Given the description of an element on the screen output the (x, y) to click on. 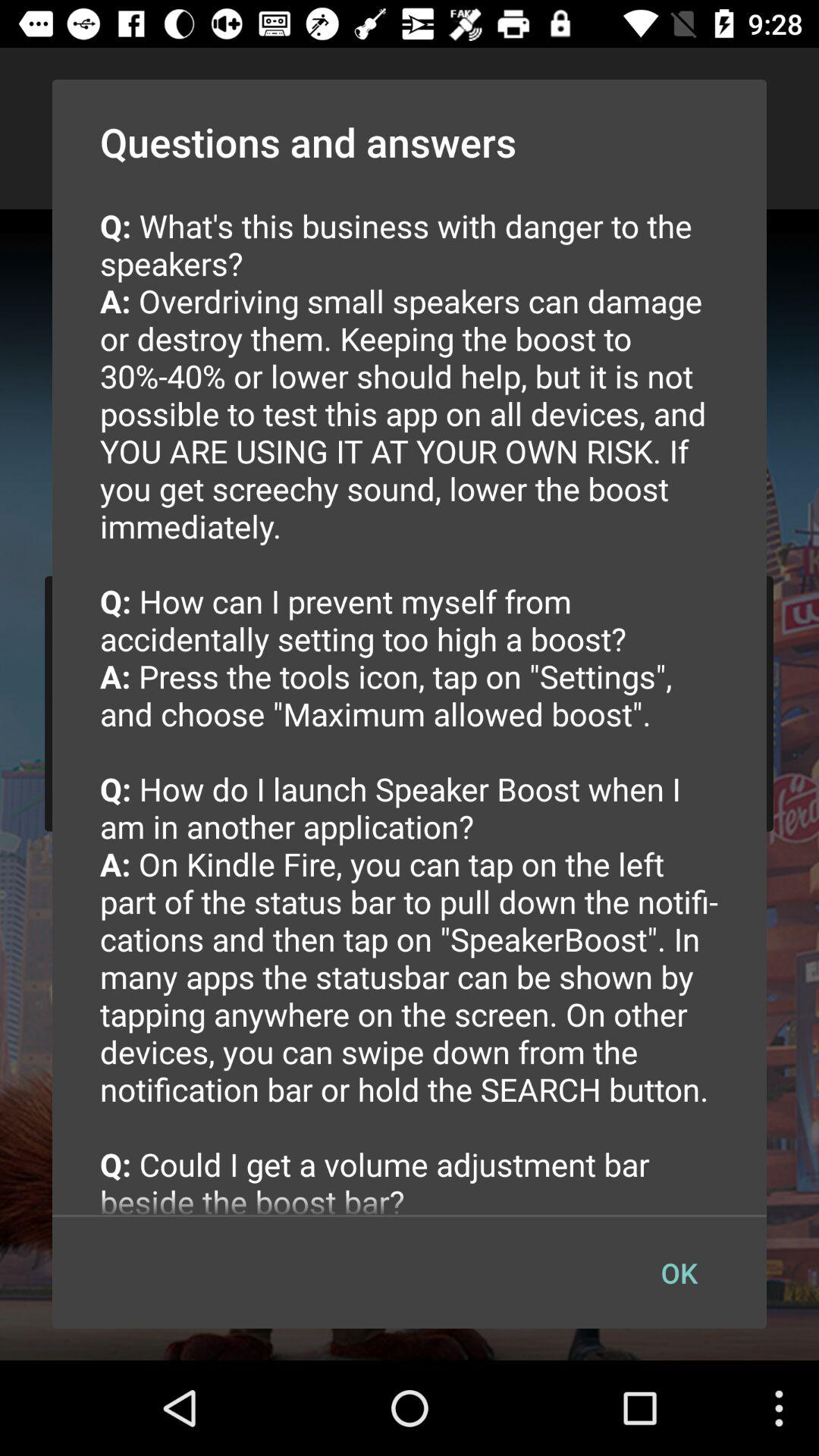
turn on icon below the q what s item (678, 1272)
